Given the description of an element on the screen output the (x, y) to click on. 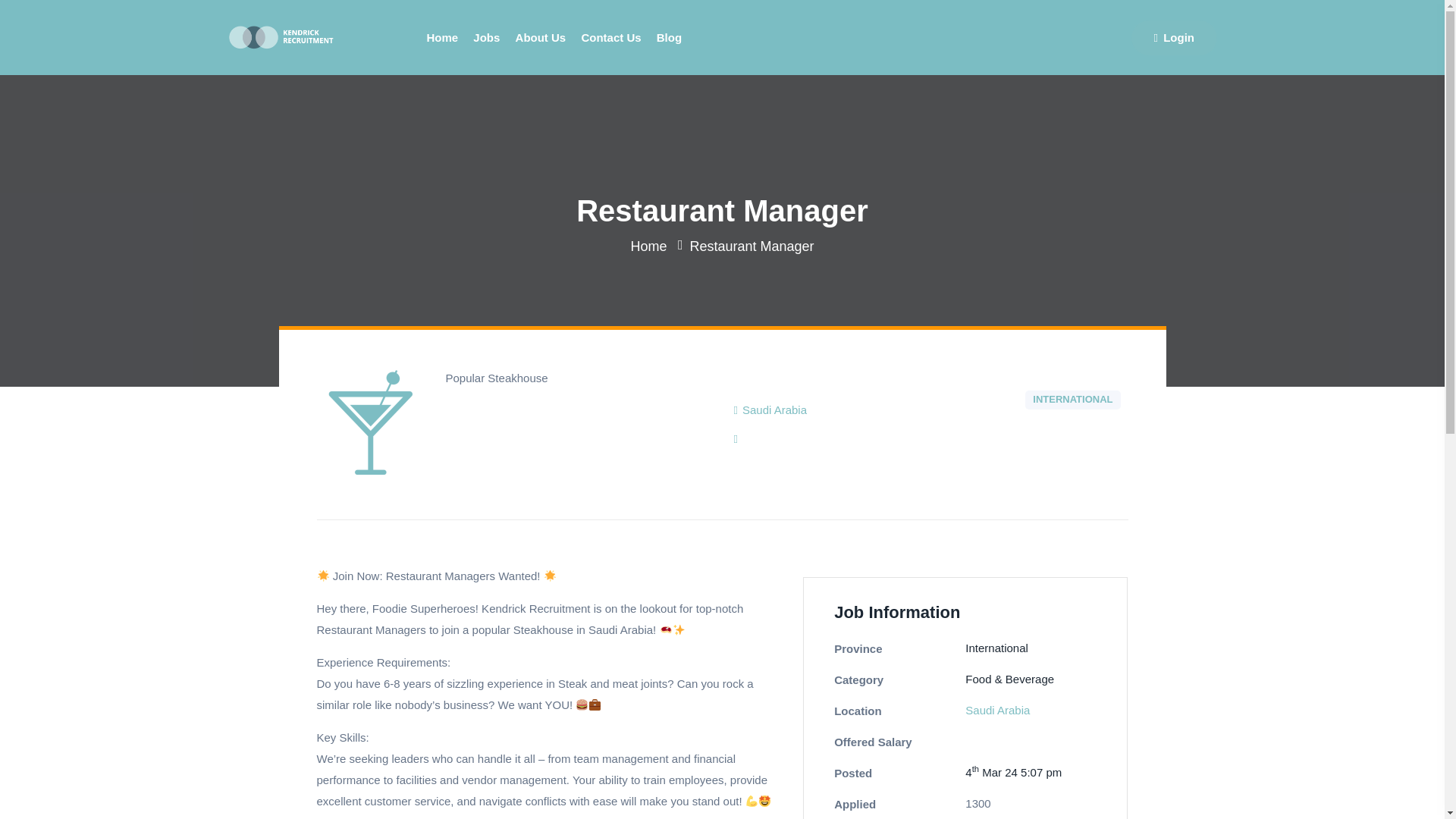
Login (1174, 36)
Saudi Arabia (774, 409)
Home (648, 245)
Saudi Arabia (997, 709)
